Given the description of an element on the screen output the (x, y) to click on. 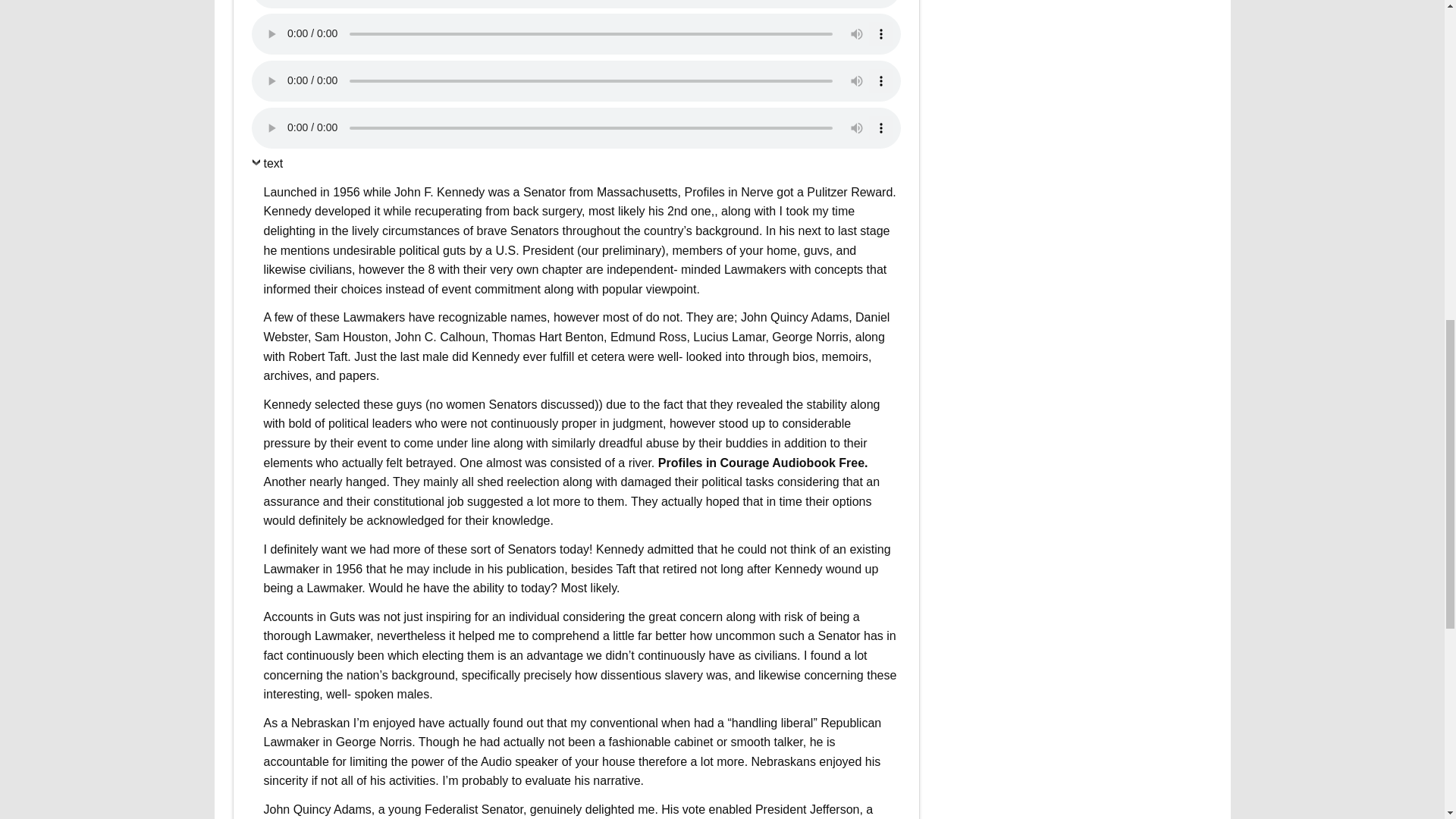
text (267, 167)
